Given the description of an element on the screen output the (x, y) to click on. 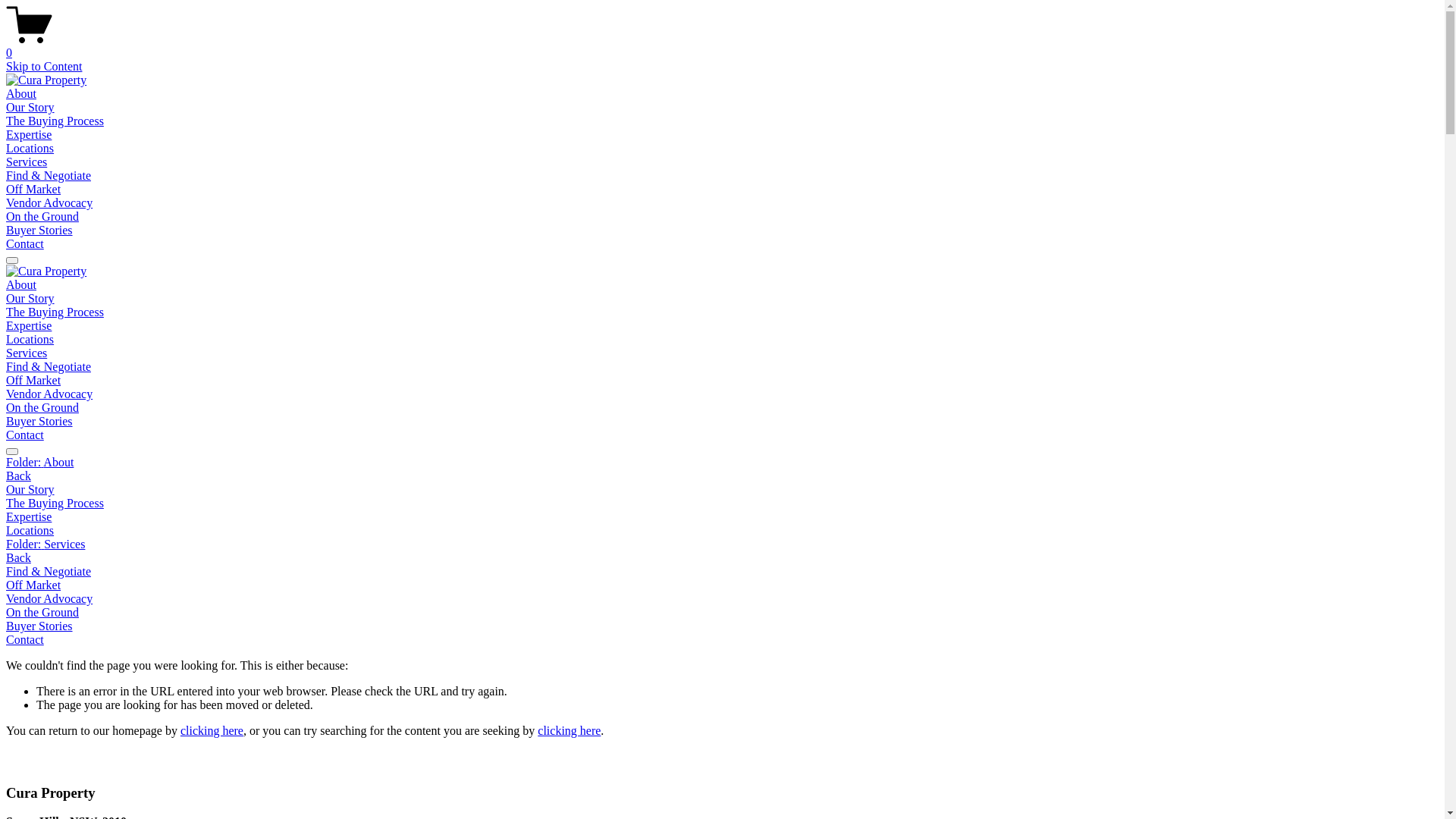
Locations Element type: text (722, 530)
Find & Negotiate Element type: text (48, 366)
Back Element type: text (18, 557)
Contact Element type: text (722, 639)
0 Element type: text (722, 45)
About Element type: text (21, 93)
Services Element type: text (26, 352)
The Buying Process Element type: text (54, 311)
Find & Negotiate Element type: text (48, 175)
Off Market Element type: text (722, 585)
Contact Element type: text (24, 243)
Expertise Element type: text (722, 517)
The Buying Process Element type: text (722, 503)
Vendor Advocacy Element type: text (722, 598)
Back Element type: text (18, 475)
The Buying Process Element type: text (54, 120)
Services Element type: text (26, 161)
On the Ground Element type: text (42, 407)
Skip to Content Element type: text (43, 65)
Locations Element type: text (29, 147)
Off Market Element type: text (33, 188)
Expertise Element type: text (28, 325)
Vendor Advocacy Element type: text (49, 202)
Folder: Services Element type: text (722, 544)
Our Story Element type: text (30, 106)
clicking here Element type: text (211, 730)
Vendor Advocacy Element type: text (49, 393)
On the Ground Element type: text (722, 612)
Contact Element type: text (24, 434)
Find & Negotiate Element type: text (722, 571)
Buyer Stories Element type: text (39, 420)
About Element type: text (21, 284)
Buyer Stories Element type: text (722, 626)
clicking here Element type: text (568, 730)
Locations Element type: text (29, 338)
On the Ground Element type: text (42, 216)
Our Story Element type: text (30, 297)
Off Market Element type: text (33, 379)
Our Story Element type: text (722, 489)
Expertise Element type: text (28, 134)
Folder: About Element type: text (722, 462)
Buyer Stories Element type: text (39, 229)
